Given the description of an element on the screen output the (x, y) to click on. 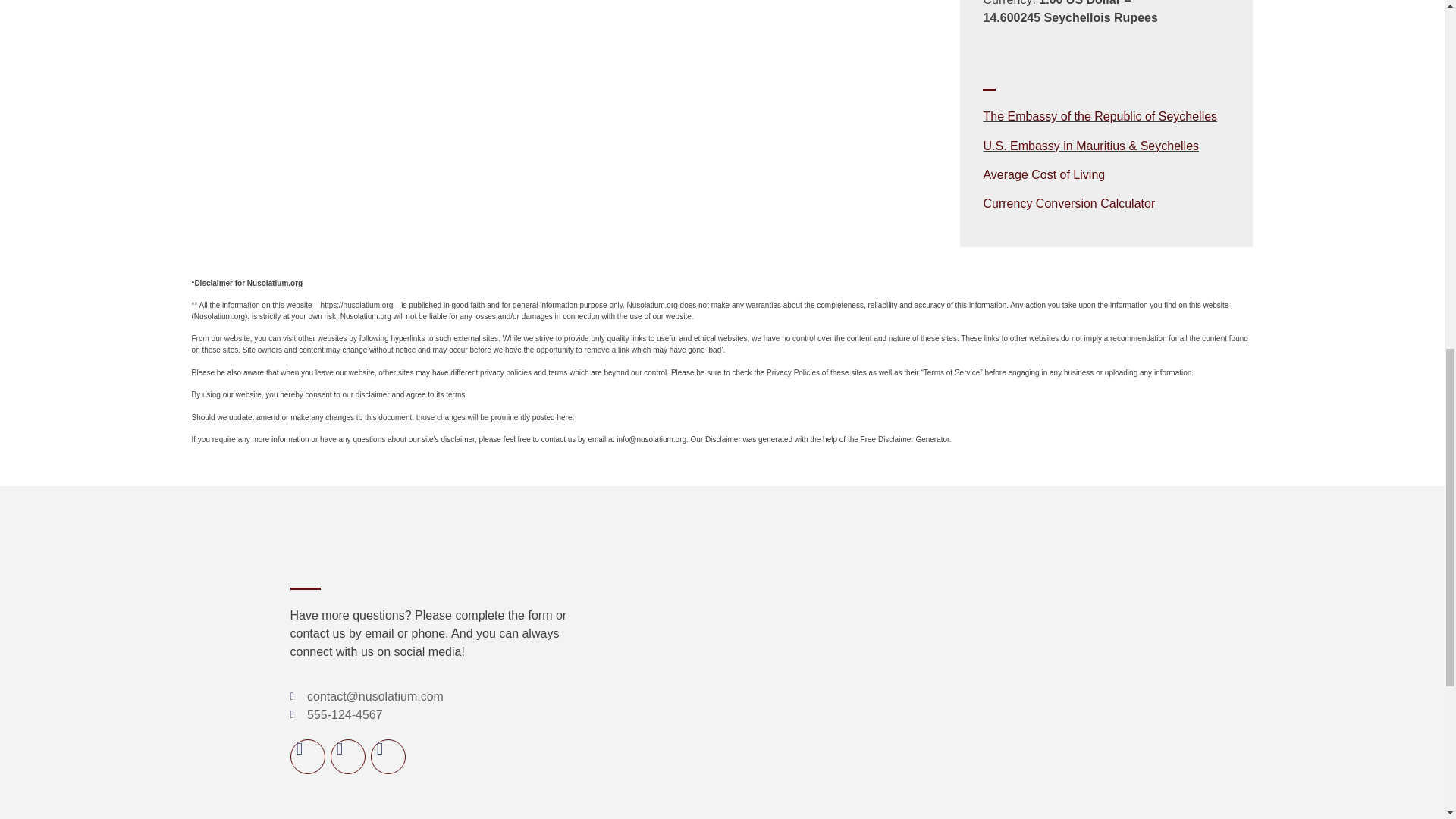
Average Cost of Living (1043, 174)
The Embassy of the Republic of Seychelles (1099, 115)
Currency Conversion Calculator  (1069, 203)
